Given the description of an element on the screen output the (x, y) to click on. 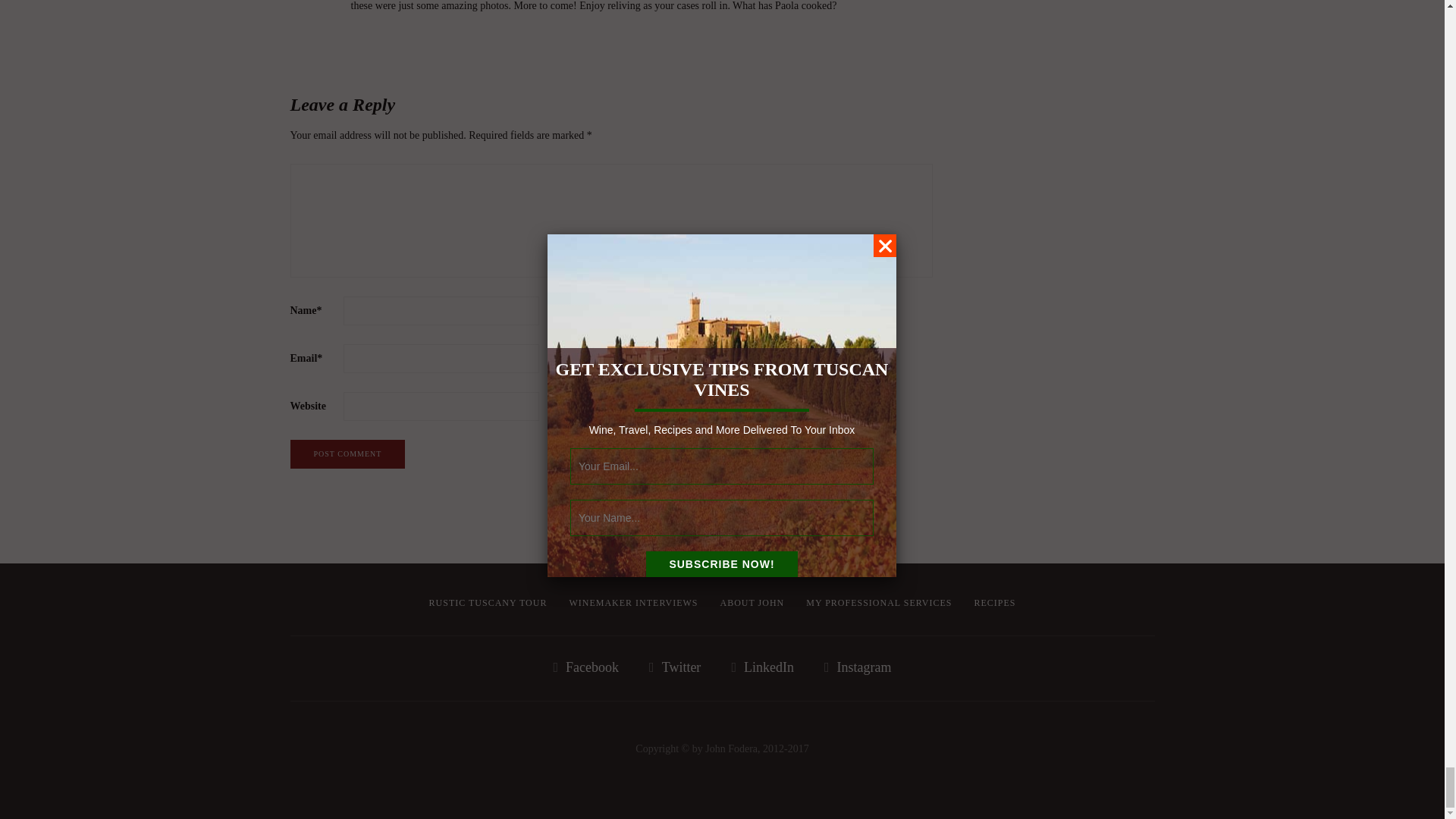
Post comment (346, 453)
